Given the description of an element on the screen output the (x, y) to click on. 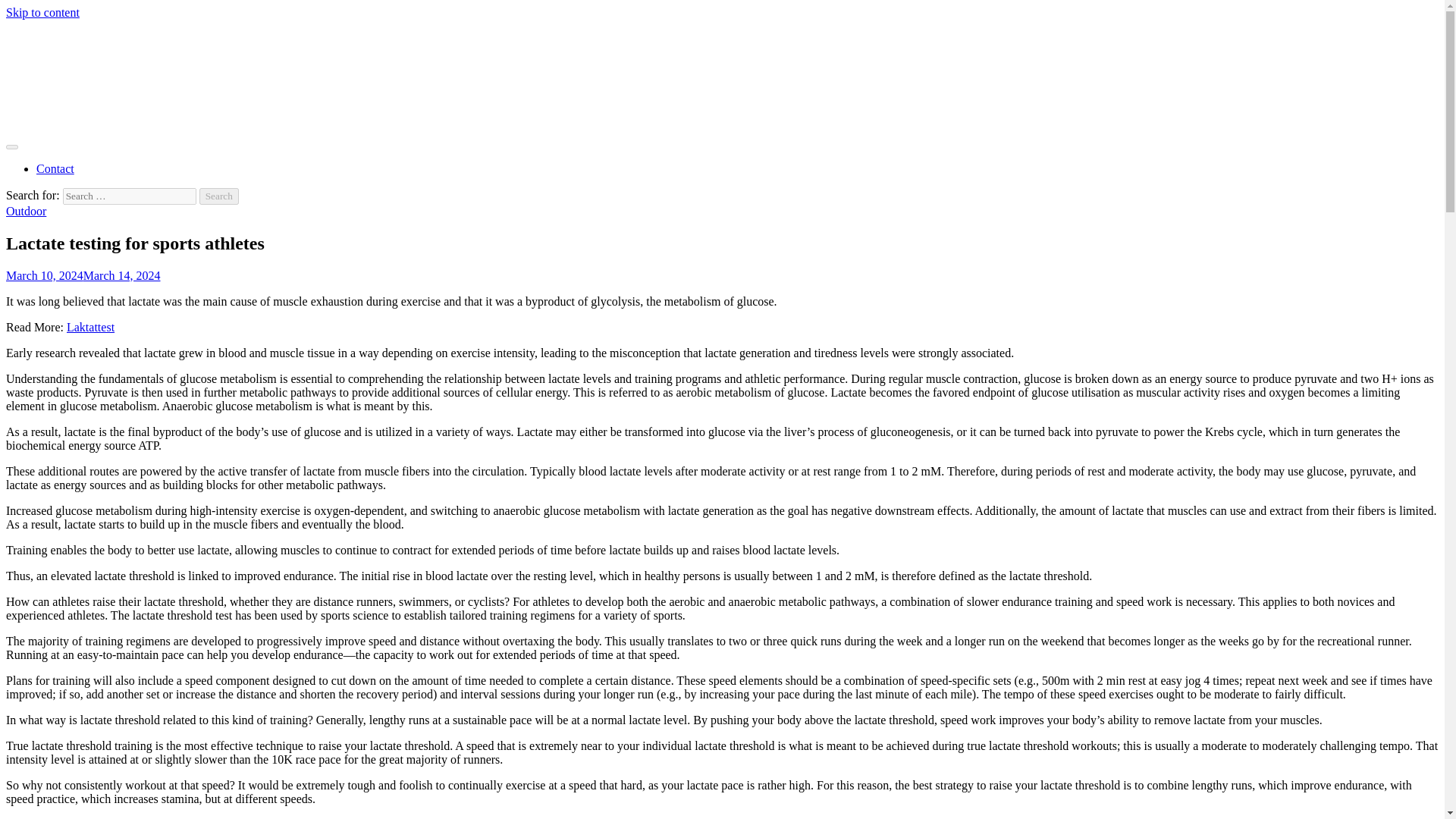
Skip to content (42, 11)
Search (218, 196)
Outdoor (25, 210)
Search (218, 196)
March 10, 2024March 14, 2024 (82, 275)
Sharp Anchor (38, 154)
Laktattest (90, 327)
Search (218, 196)
Contact (55, 168)
